Given the description of an element on the screen output the (x, y) to click on. 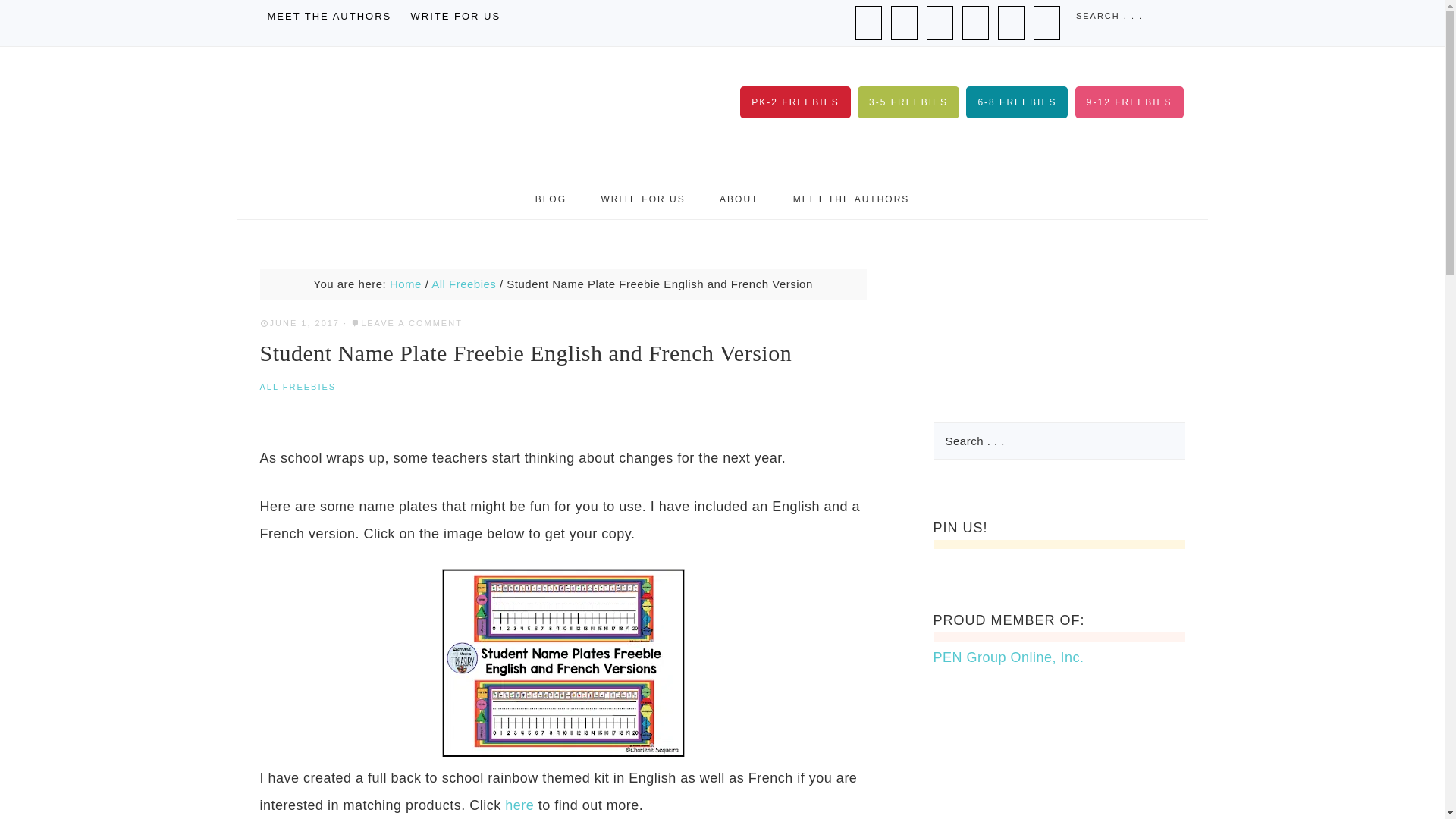
MEET THE AUTHORS (850, 199)
WRITE FOR US (455, 16)
9-12 FREEBIES (1129, 101)
6-8 FREEBIES (1016, 101)
MEET THE AUTHORS (328, 16)
Home (406, 283)
PK-2 FREEBIES (794, 101)
BLOG (549, 199)
CLASSROOM FREEBIES (410, 113)
